Given the description of an element on the screen output the (x, y) to click on. 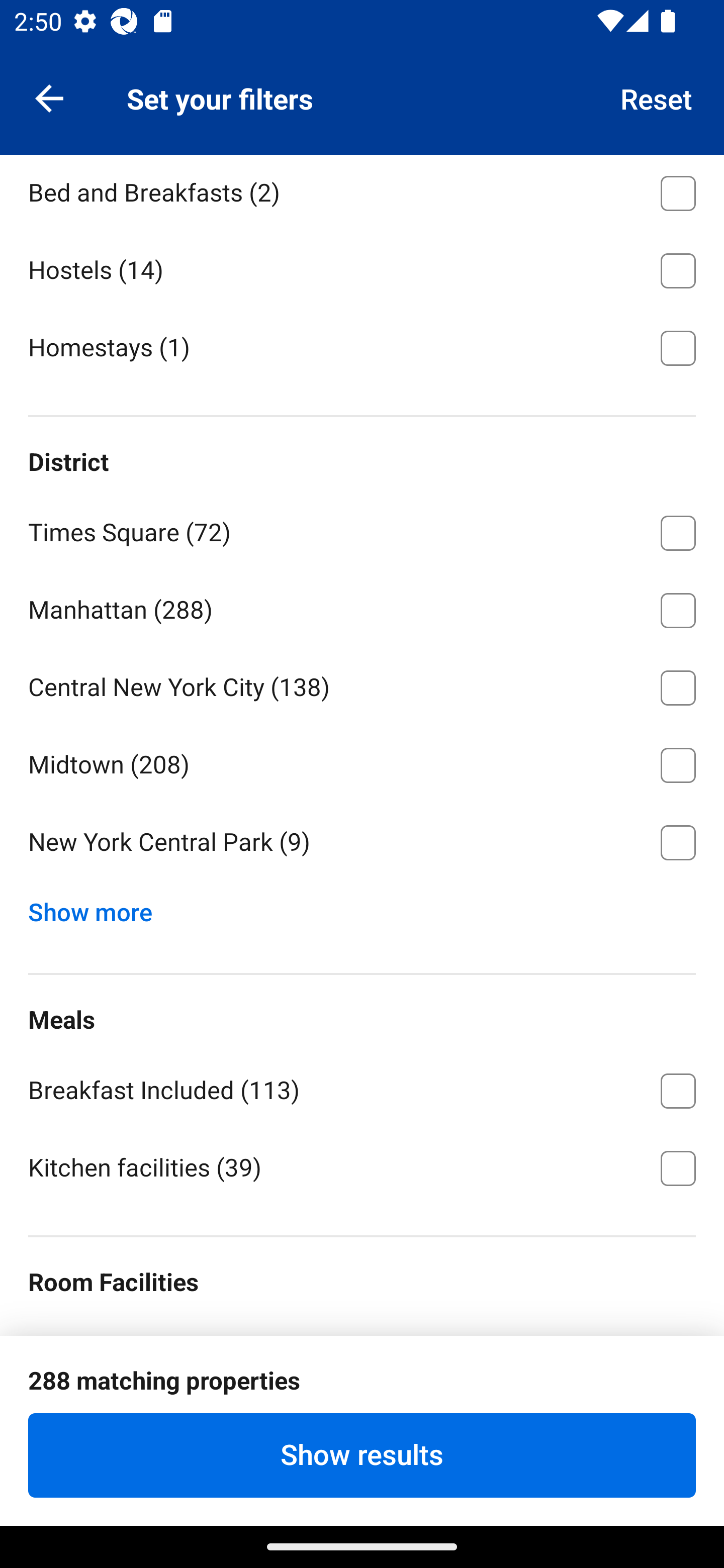
Navigate up (49, 97)
Reset (656, 97)
Guesthouses ⁦(4) (361, 111)
Bed and Breakfasts ⁦(2) (361, 191)
Hostels ⁦(14) (361, 266)
Homestays ⁦(1) (361, 346)
Times Square ⁦(72) (361, 528)
Manhattan ⁦(288) (361, 606)
Central New York City ⁦(138) (361, 684)
Midtown ⁦(208) (361, 761)
New York Central Park ⁦(9) (361, 842)
Show more (97, 907)
Breakfast Included ⁦(113) (361, 1086)
Kitchen facilities ⁦(39) (361, 1166)
Show results (361, 1454)
